Given the description of an element on the screen output the (x, y) to click on. 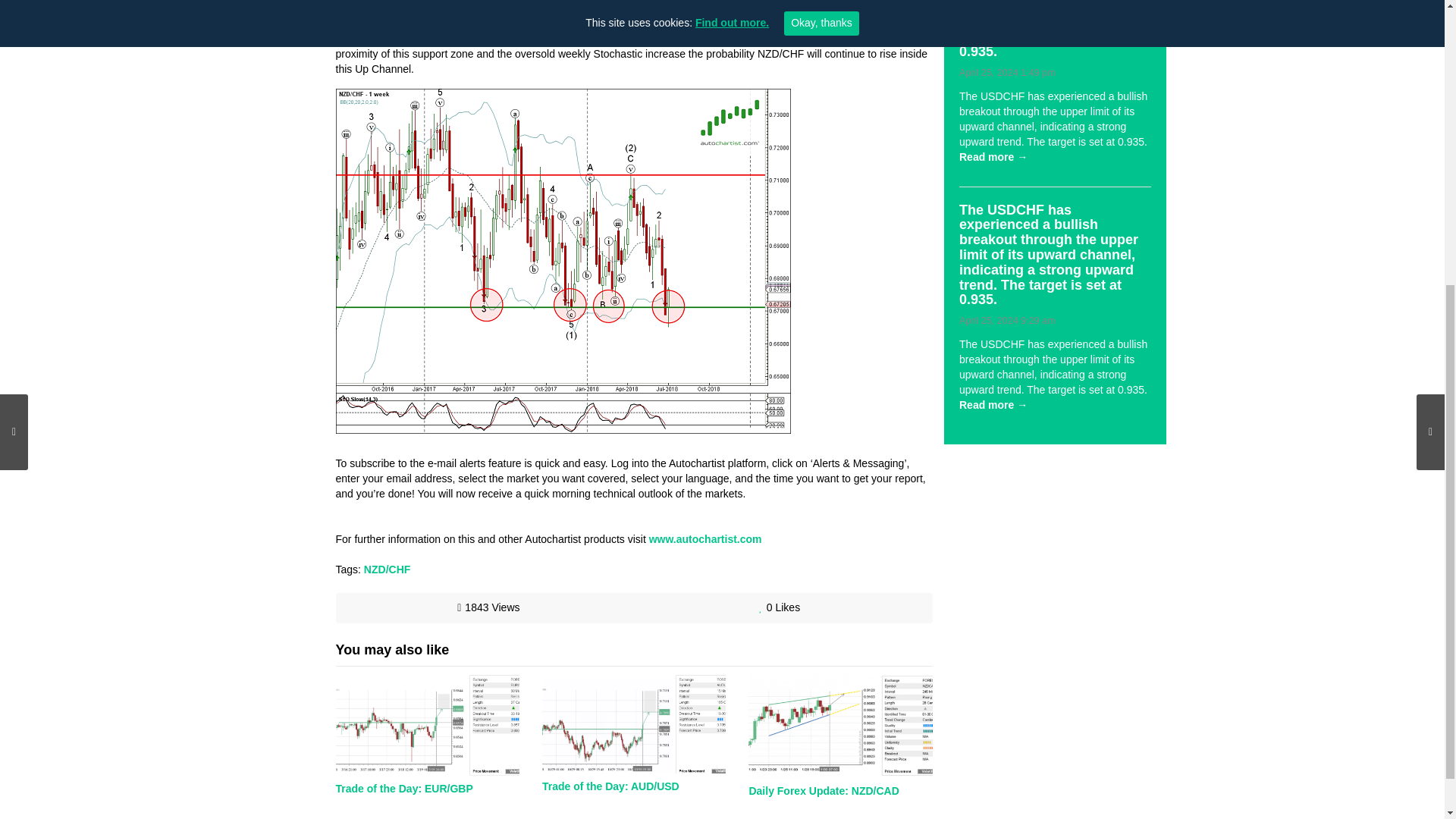
www.autochartist.com (705, 539)
